Given the description of an element on the screen output the (x, y) to click on. 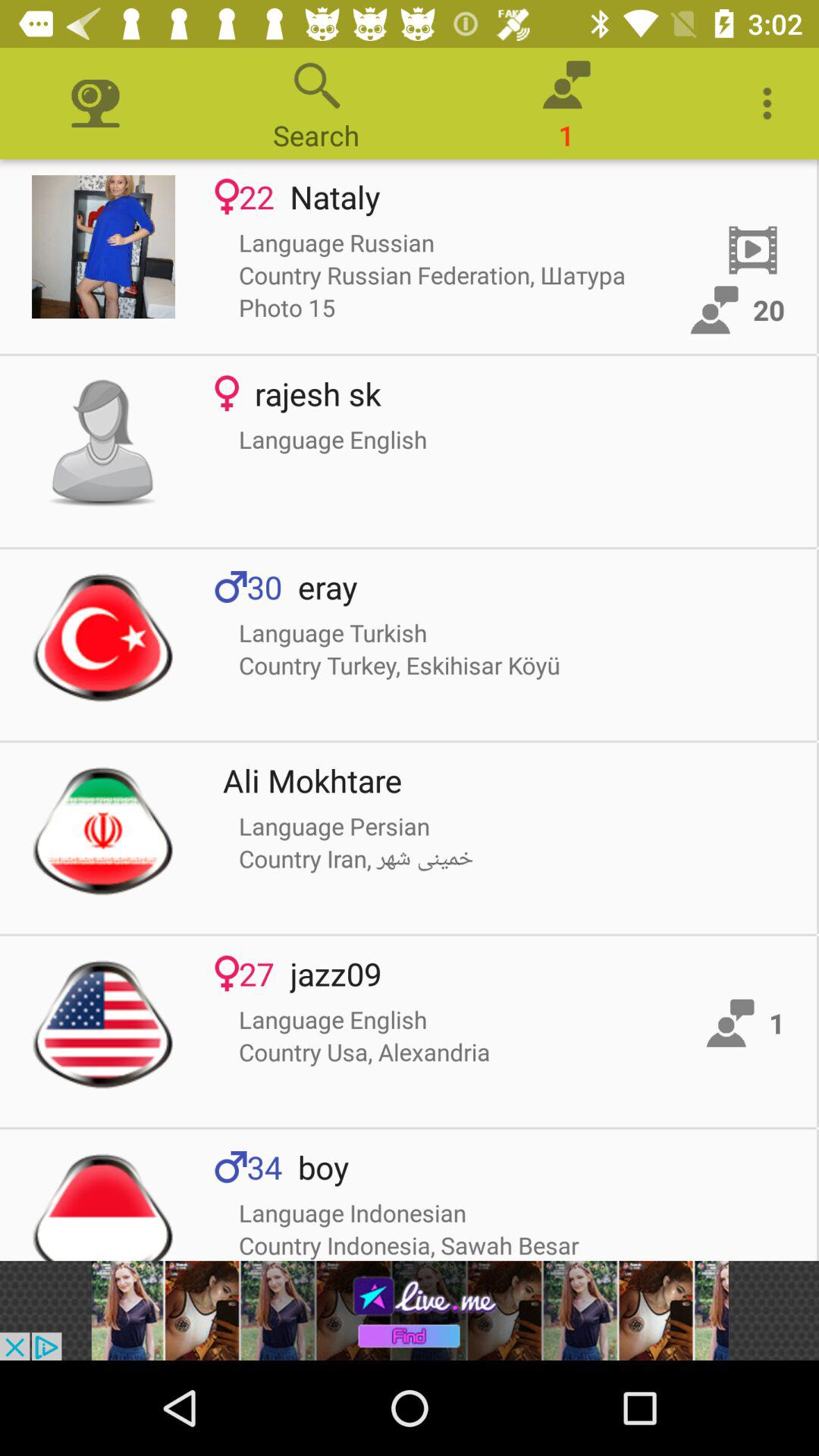
open profile of nataly (103, 246)
